Given the description of an element on the screen output the (x, y) to click on. 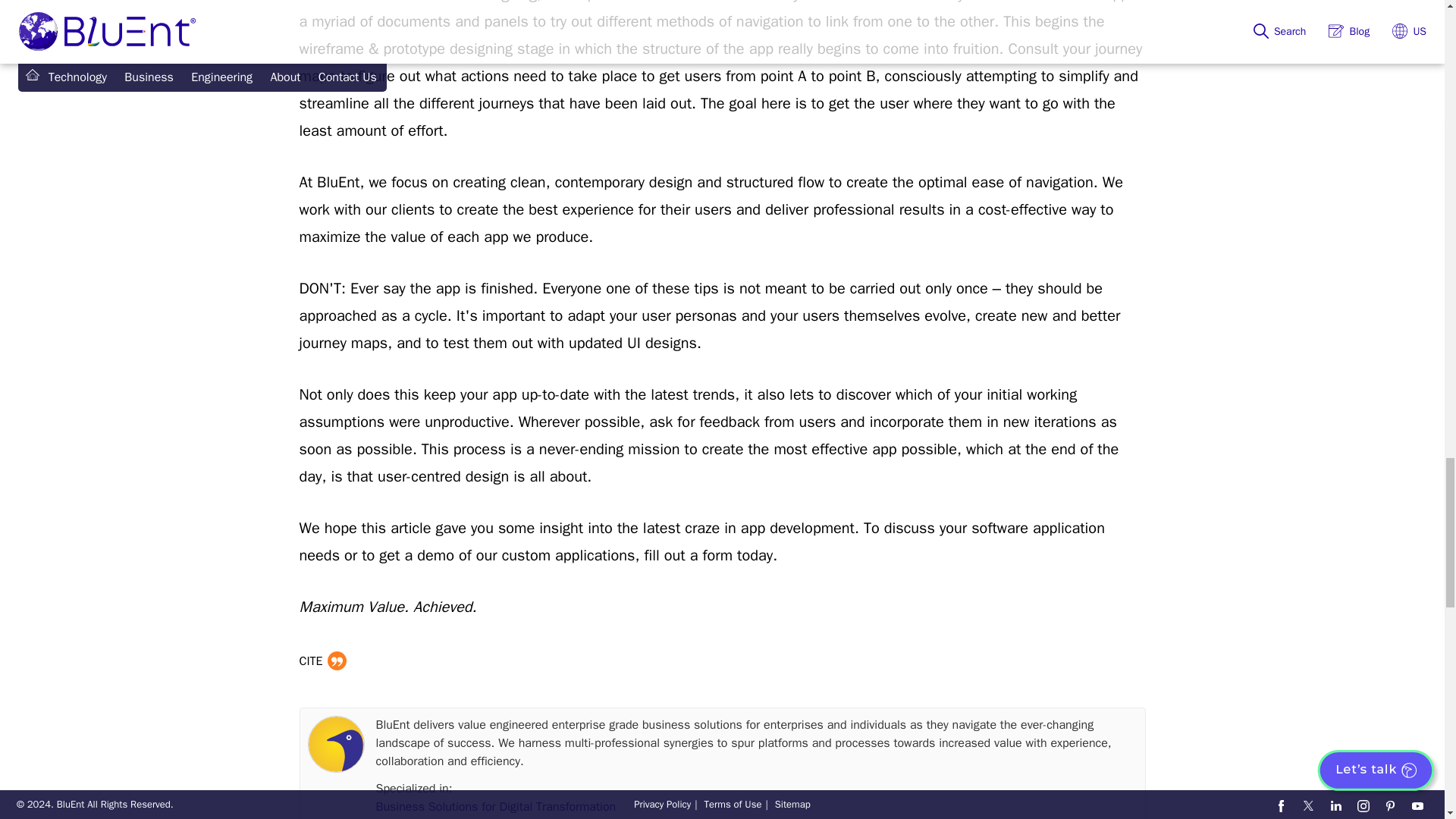
CITE THIS ARTICLE (322, 660)
